Given the description of an element on the screen output the (x, y) to click on. 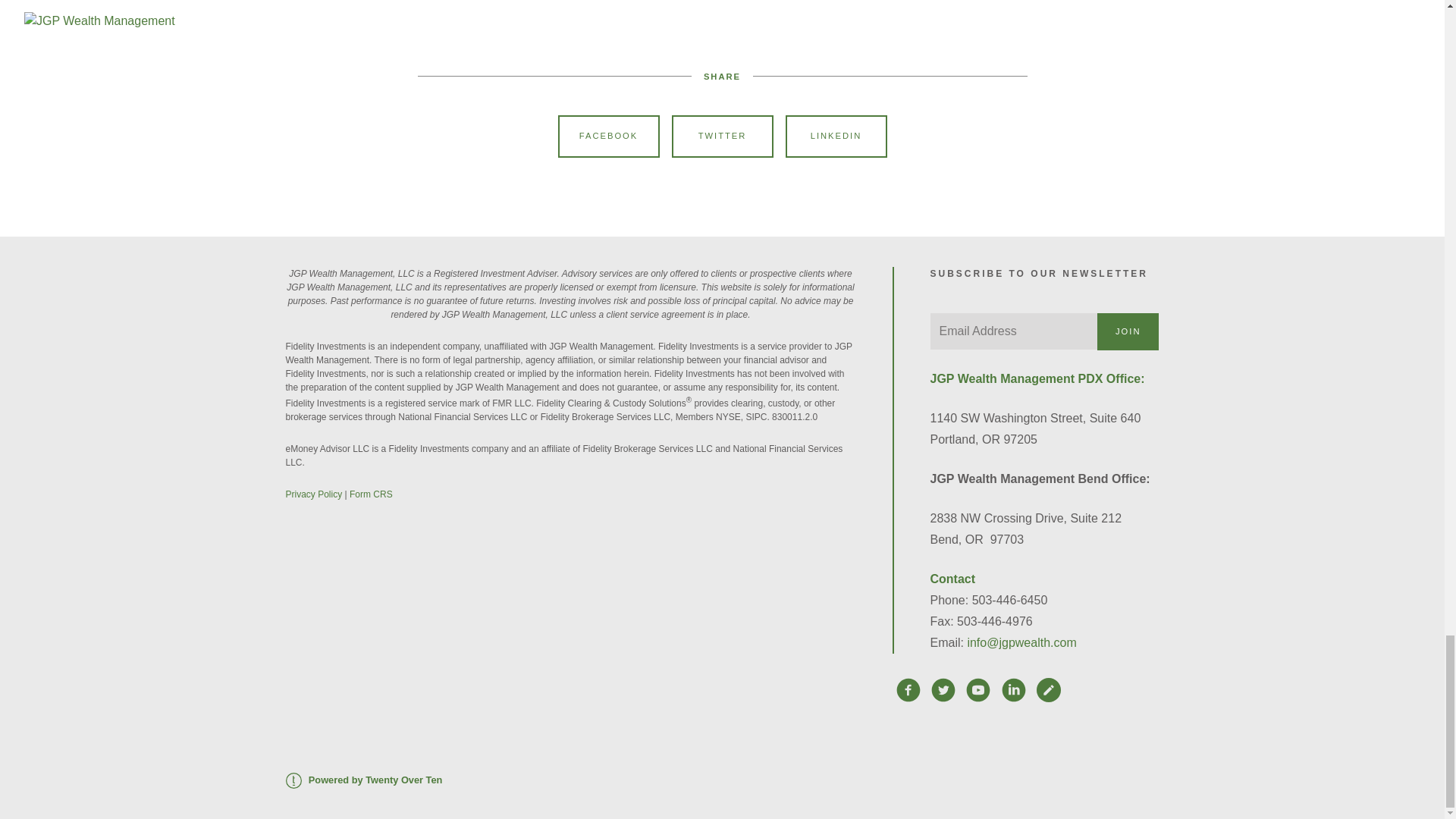
Privacy Policy (313, 493)
Powered by Twenty Over Ten (363, 779)
LinkedIn (641, 6)
JOIN (1127, 331)
TWITTER (722, 136)
LINKEDIN (836, 136)
 Form CRS  (370, 493)
FACEBOOK (608, 136)
